Given the description of an element on the screen output the (x, y) to click on. 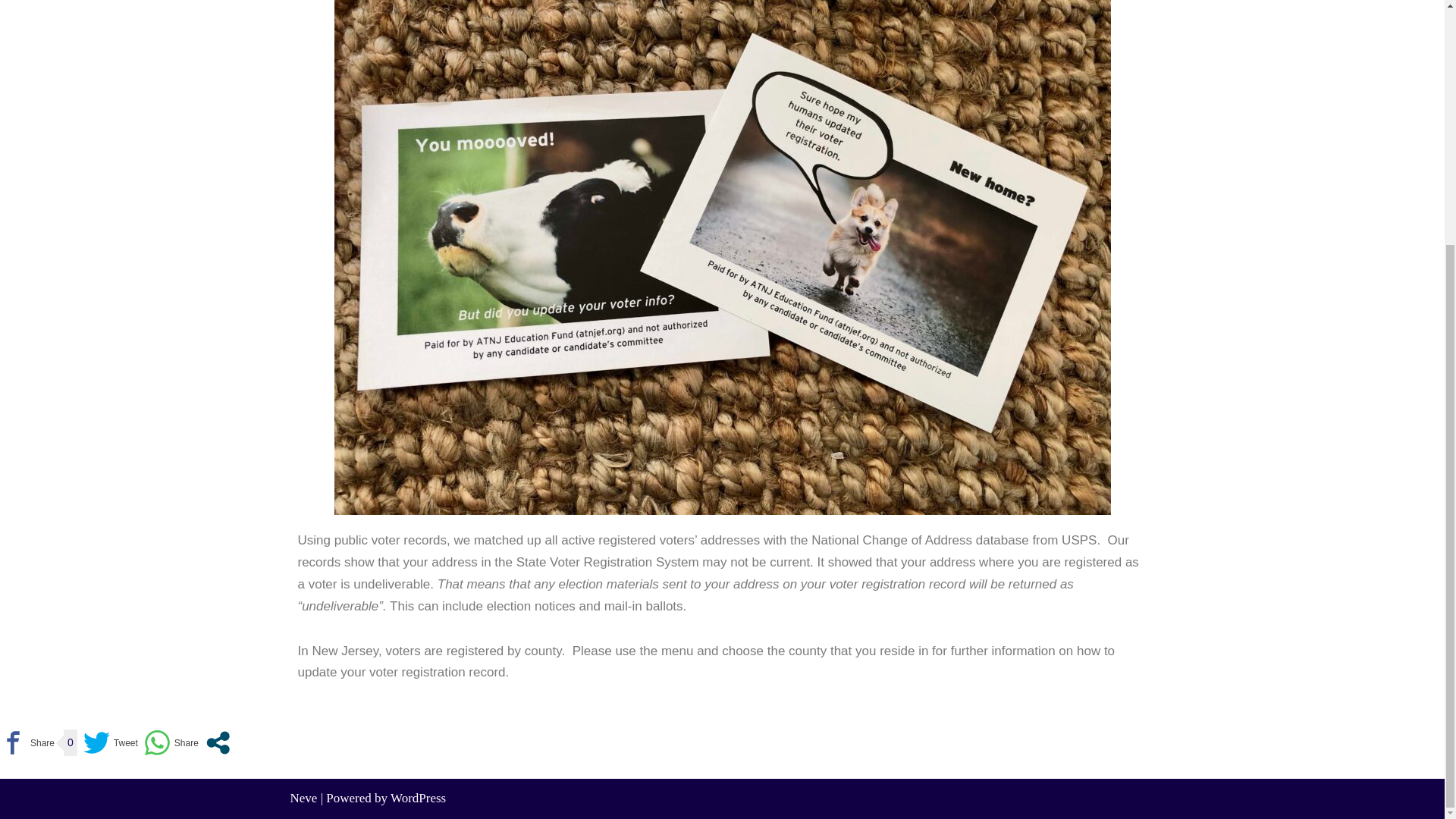
Tweet (110, 742)
Open modal social networks (218, 742)
Share on Facebook (27, 742)
WordPress (417, 798)
Neve (303, 798)
Share on WhatsApp (171, 742)
